Given the description of an element on the screen output the (x, y) to click on. 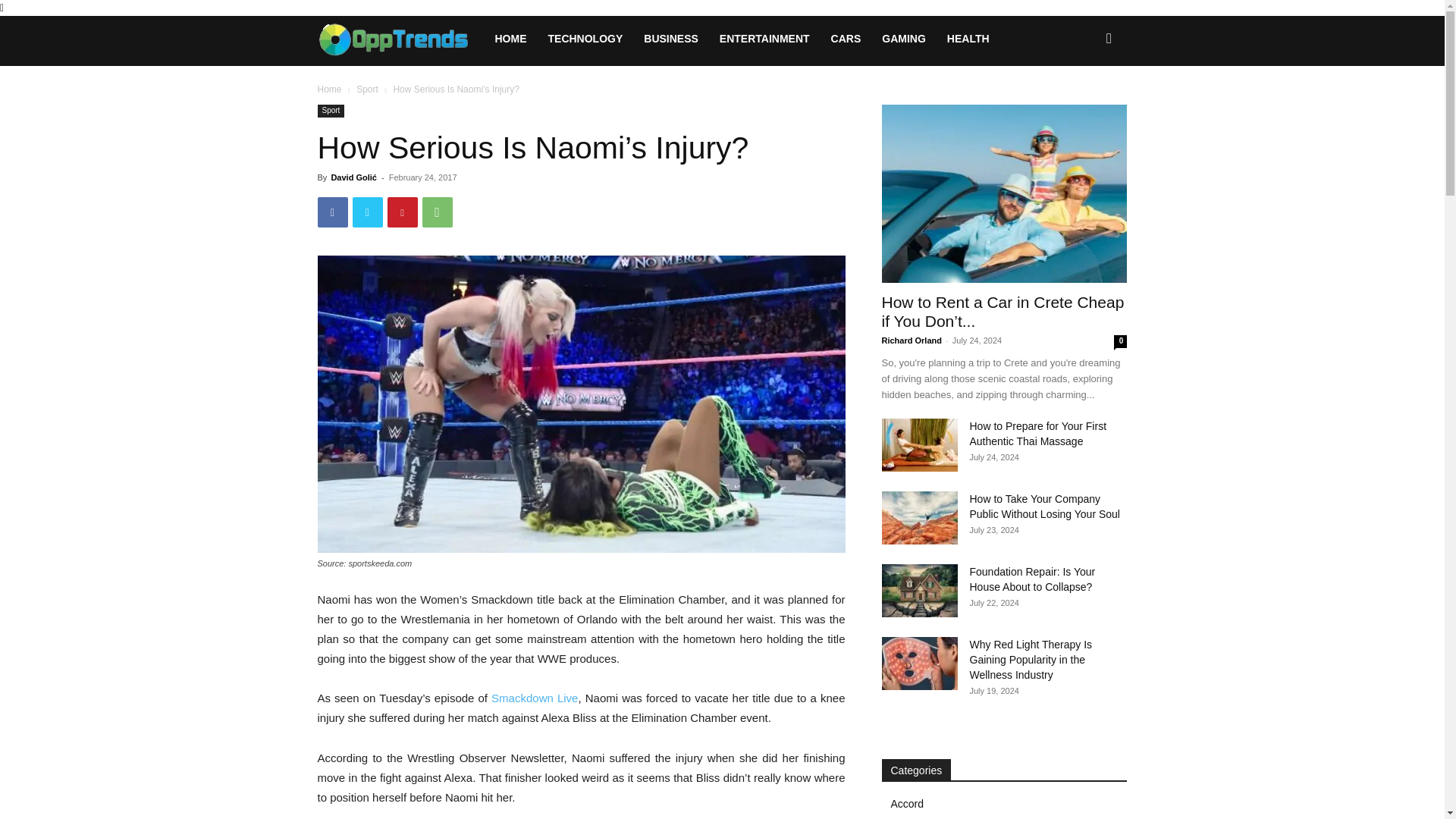
Twitter (366, 212)
Search (1085, 103)
BUSINESS (671, 38)
Opptrends 2024 (400, 38)
Pinterest (401, 212)
View all posts in Sport (367, 89)
CARS (846, 38)
Smackdown Live (535, 697)
HOME (510, 38)
Sport (330, 110)
TECHNOLOGY (585, 38)
Facebook (332, 212)
WhatsApp (436, 212)
Home (328, 89)
HEALTH (968, 38)
